Given the description of an element on the screen output the (x, y) to click on. 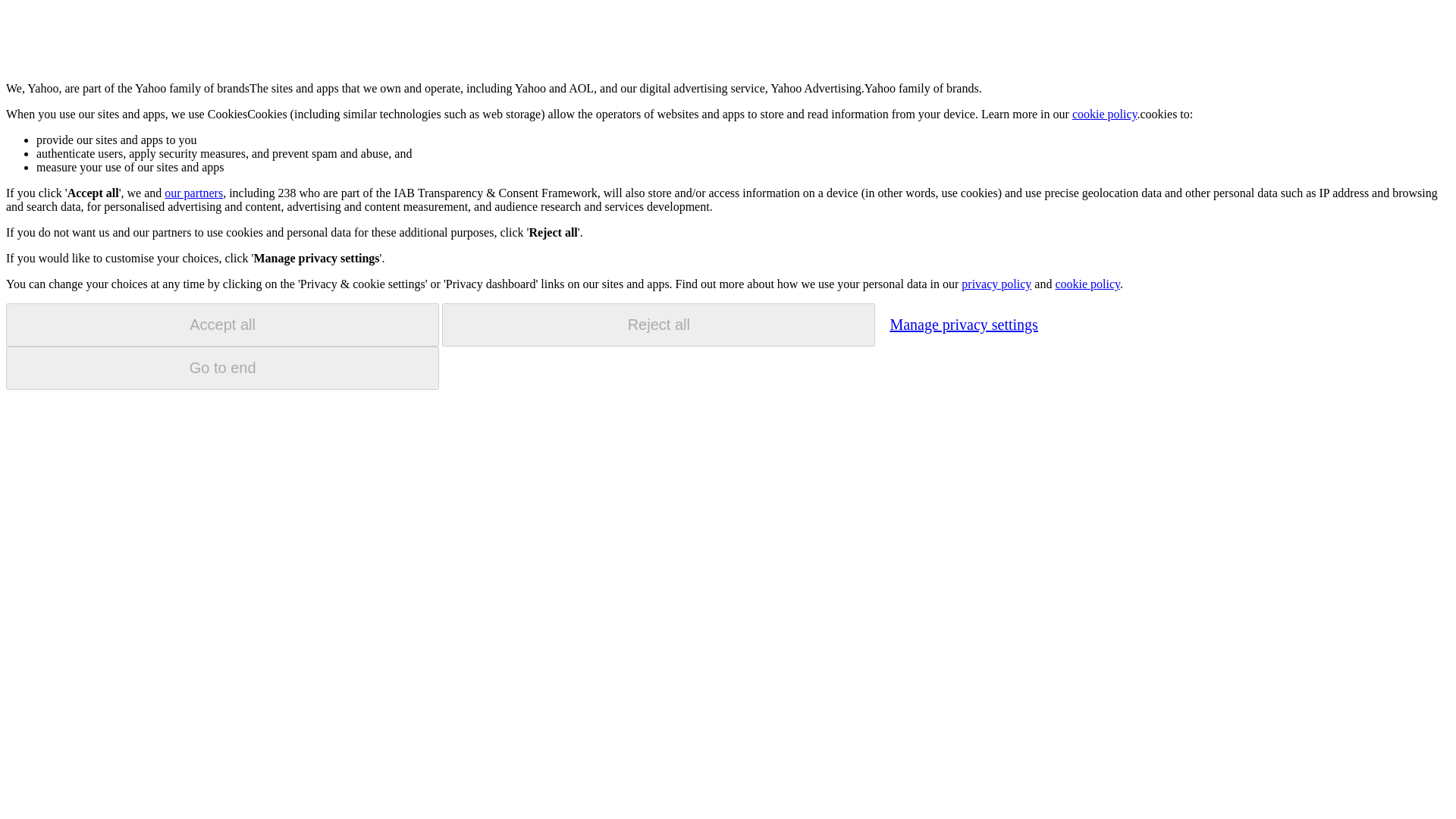
privacy policy (995, 283)
cookie policy (1104, 113)
Accept all (222, 324)
Reject all (658, 324)
cookie policy (1086, 283)
our partners (193, 192)
Manage privacy settings (963, 323)
